Given the description of an element on the screen output the (x, y) to click on. 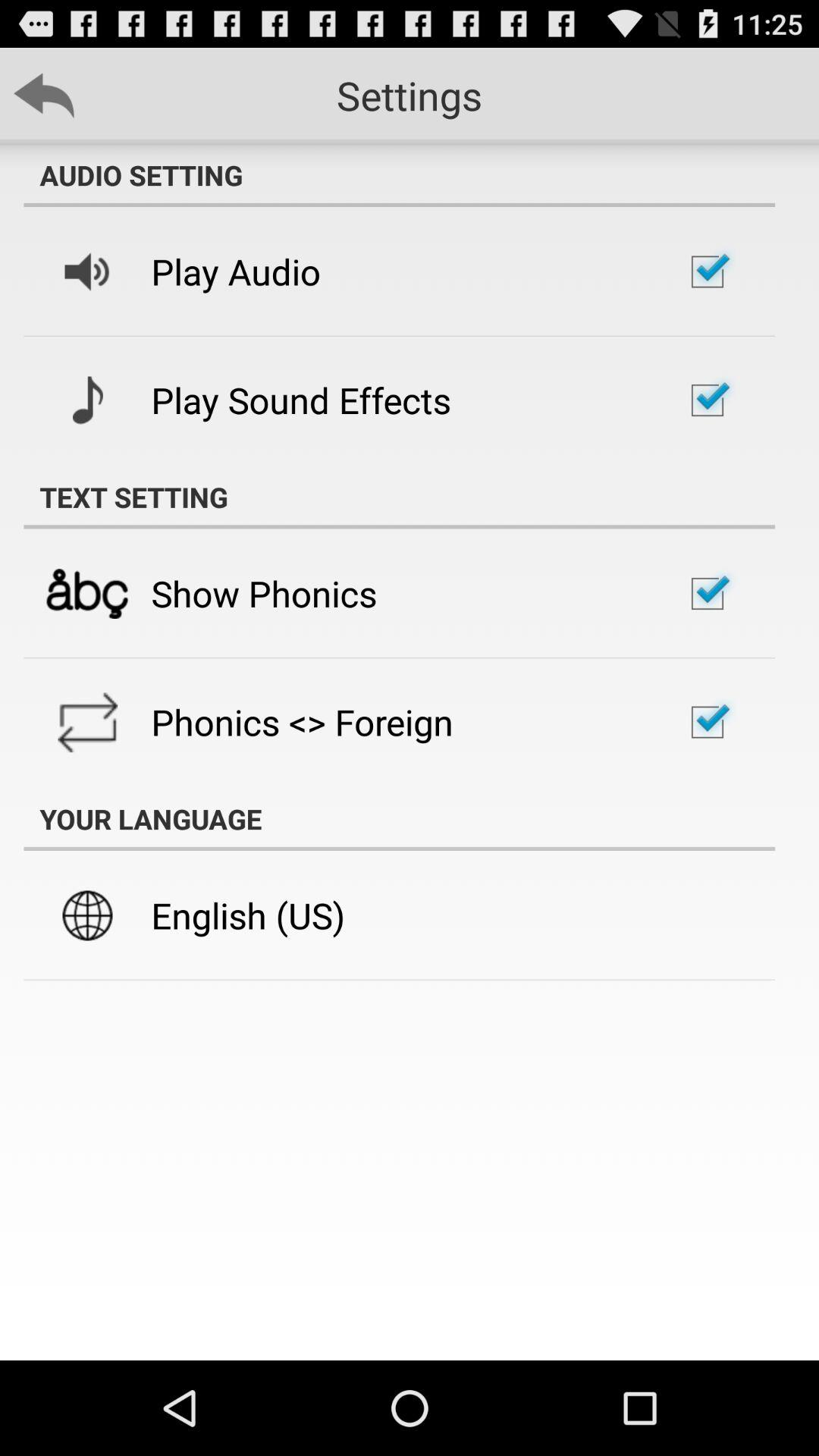
flip until phonics <> foreign icon (302, 721)
